Given the description of an element on the screen output the (x, y) to click on. 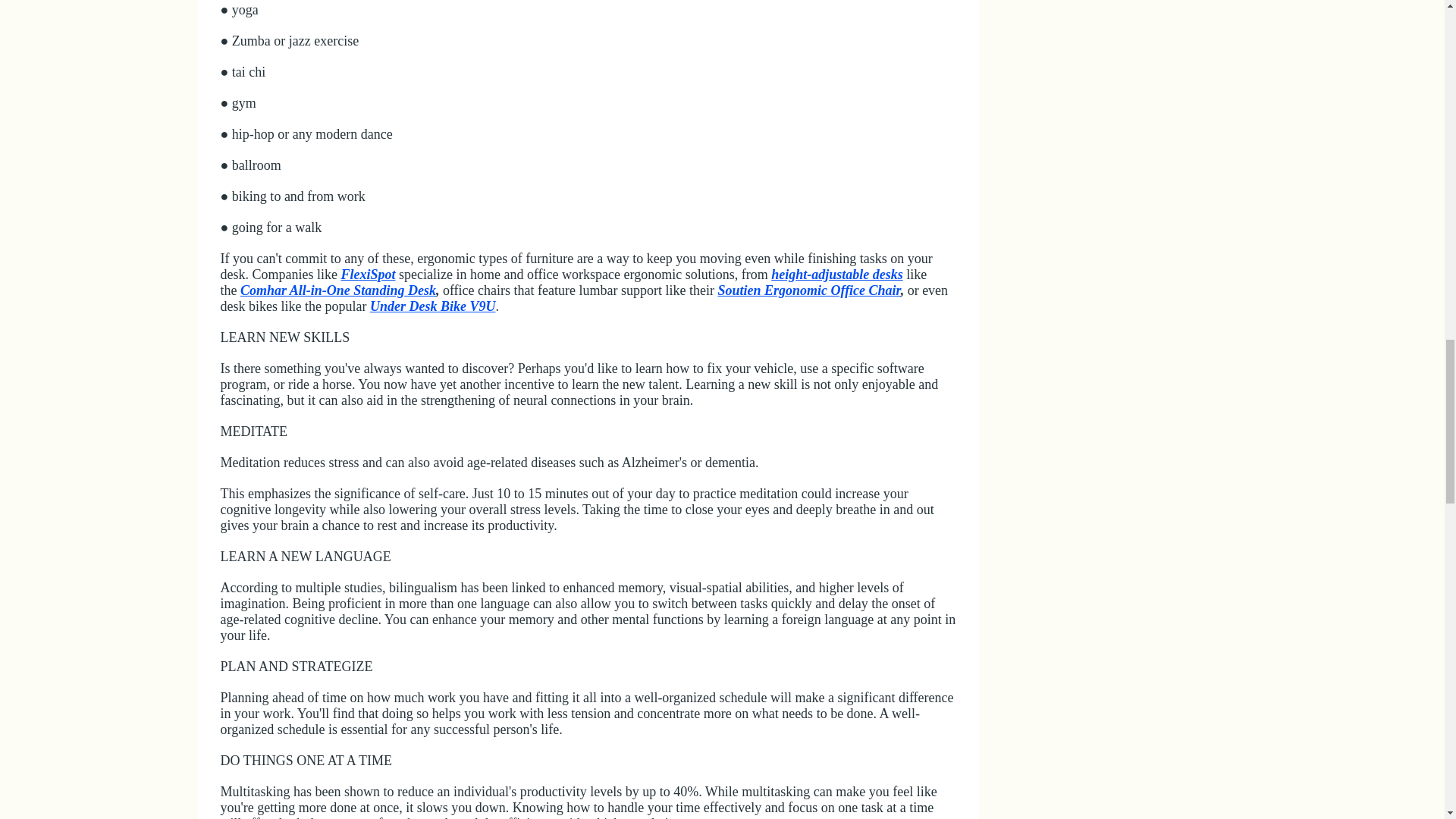
Under Desk Bike V9U (432, 305)
Comhar All-in-One Standing Desk (337, 290)
Soutien Ergonomic Office Chair (808, 290)
height-adjustable desks (836, 273)
FlexiSpot (367, 273)
